Given the description of an element on the screen output the (x, y) to click on. 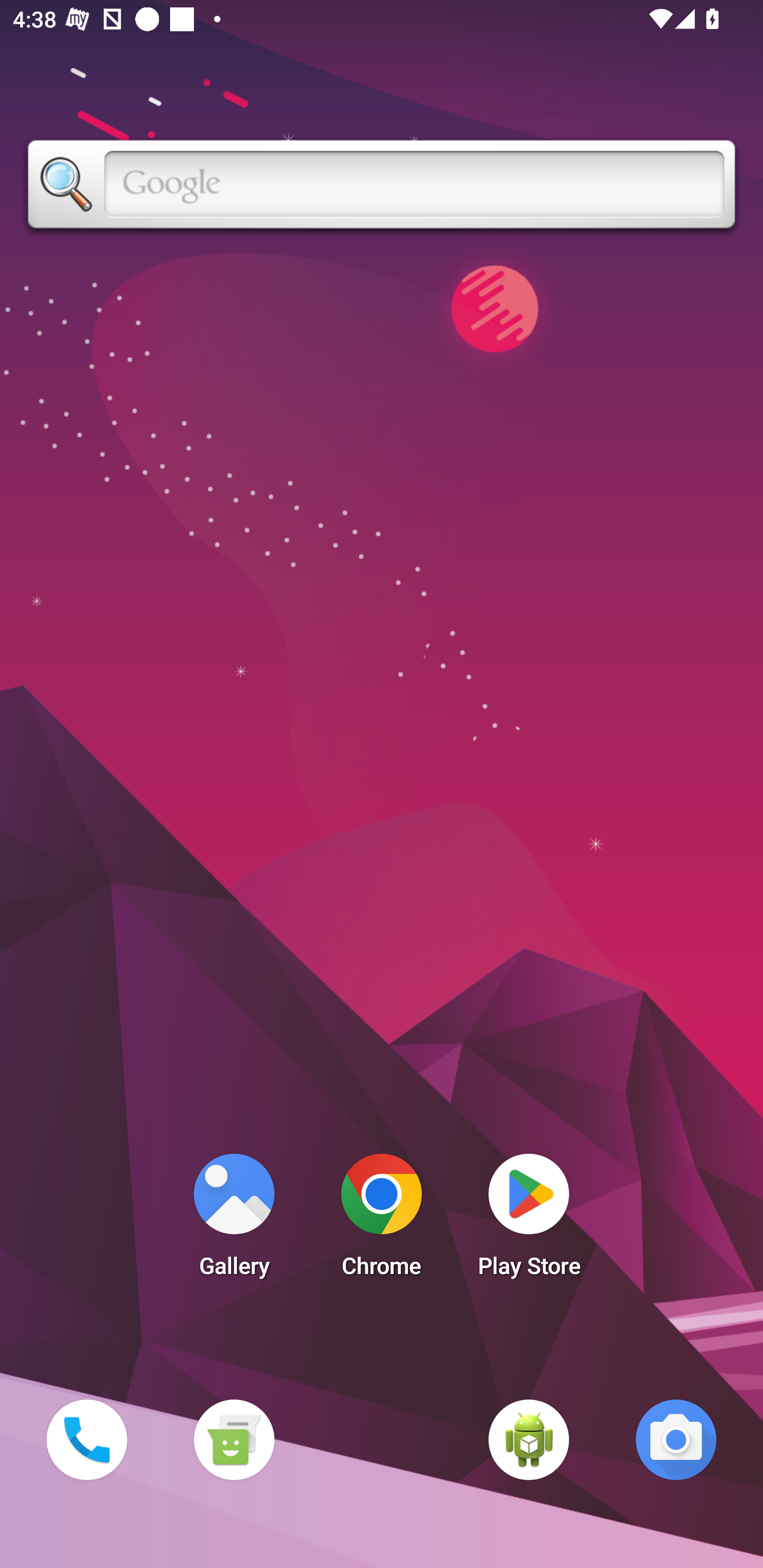
Gallery (233, 1220)
Chrome (381, 1220)
Play Store (528, 1220)
Phone (86, 1439)
Messaging (233, 1439)
WebView Browser Tester (528, 1439)
Camera (676, 1439)
